Given the description of an element on the screen output the (x, y) to click on. 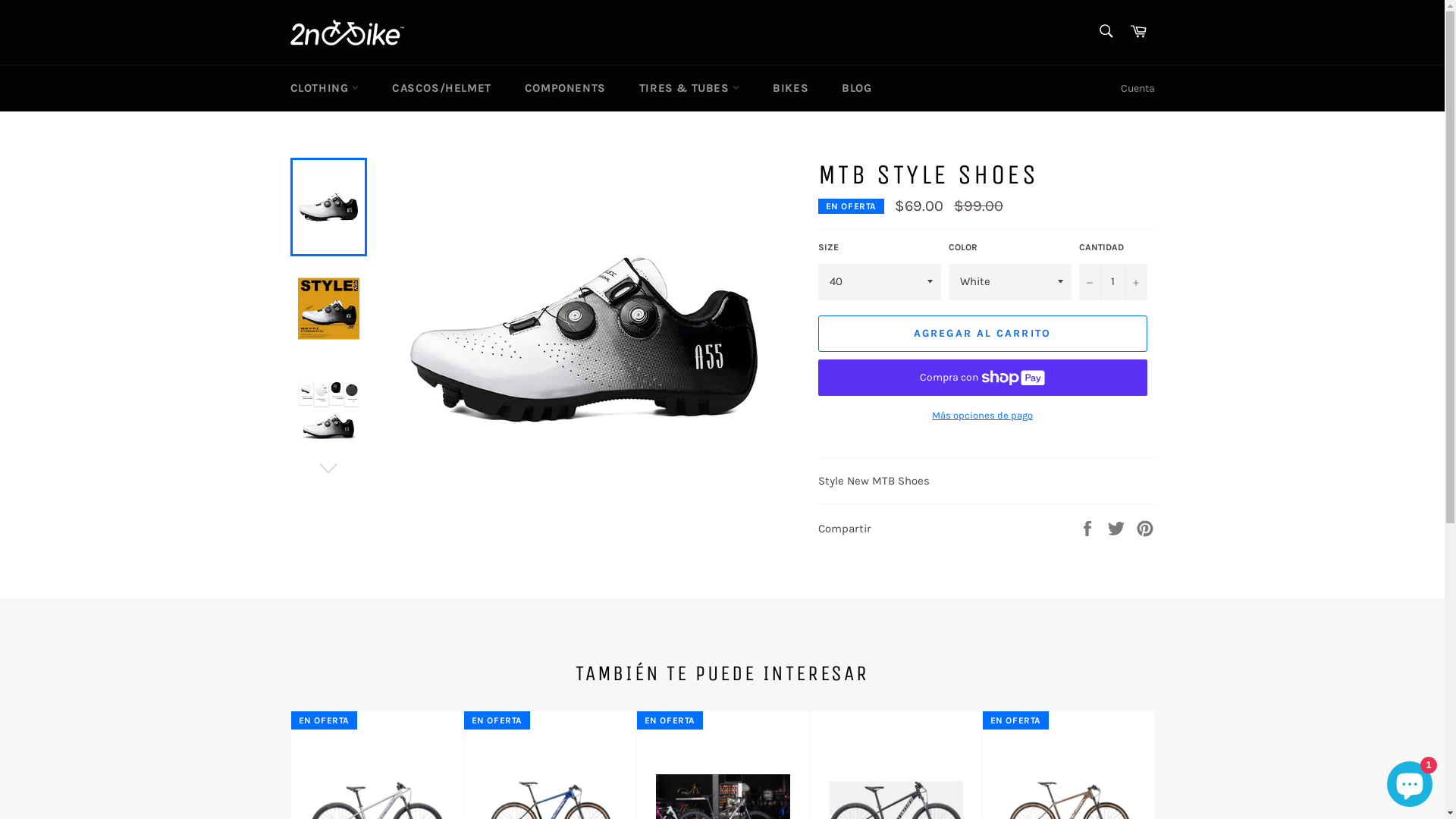
BLOG Element type: text (856, 88)
TIRES & TUBES Element type: text (689, 88)
COMPONENTS Element type: text (565, 88)
BIKES Element type: text (790, 88)
Buscar Element type: text (1105, 31)
Compartir en Facebook Element type: text (1088, 527)
Tuitear en Twitter Element type: text (1117, 527)
Chat de la tienda online Shopify Element type: hover (1409, 780)
Pinear en Pinterest Element type: text (1144, 527)
Cuenta Element type: text (1137, 87)
Carrito Element type: text (1138, 32)
+ Element type: text (1134, 281)
CLOTHING Element type: text (323, 88)
AGREGAR AL CARRITO Element type: text (981, 333)
CASCOS/HELMET Element type: text (441, 88)
